Given the description of an element on the screen output the (x, y) to click on. 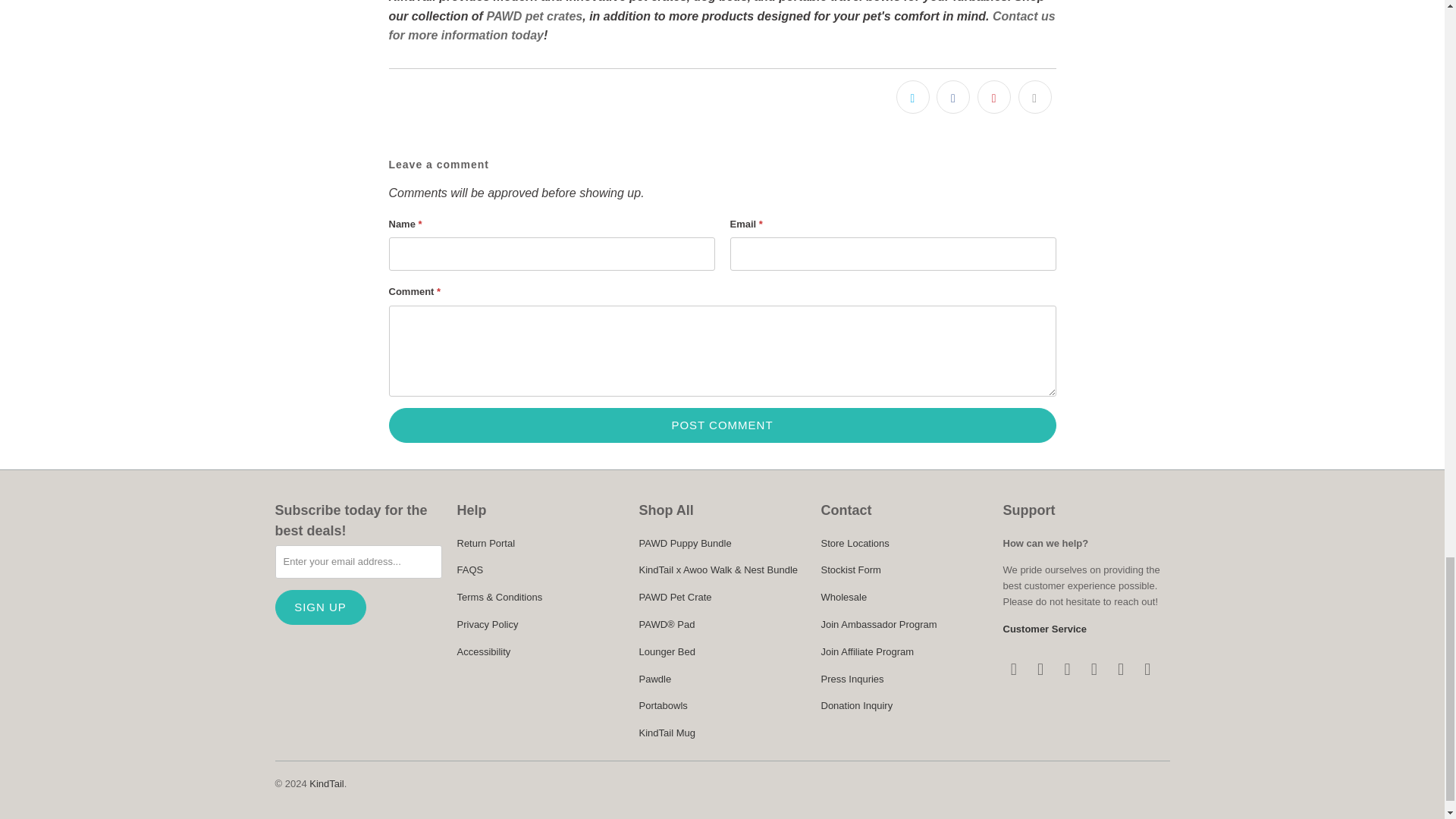
Share this on Twitter (913, 96)
Post comment (721, 425)
Sign Up (320, 606)
Share this on Facebook (952, 96)
Share this on Pinterest (993, 96)
